Given the description of an element on the screen output the (x, y) to click on. 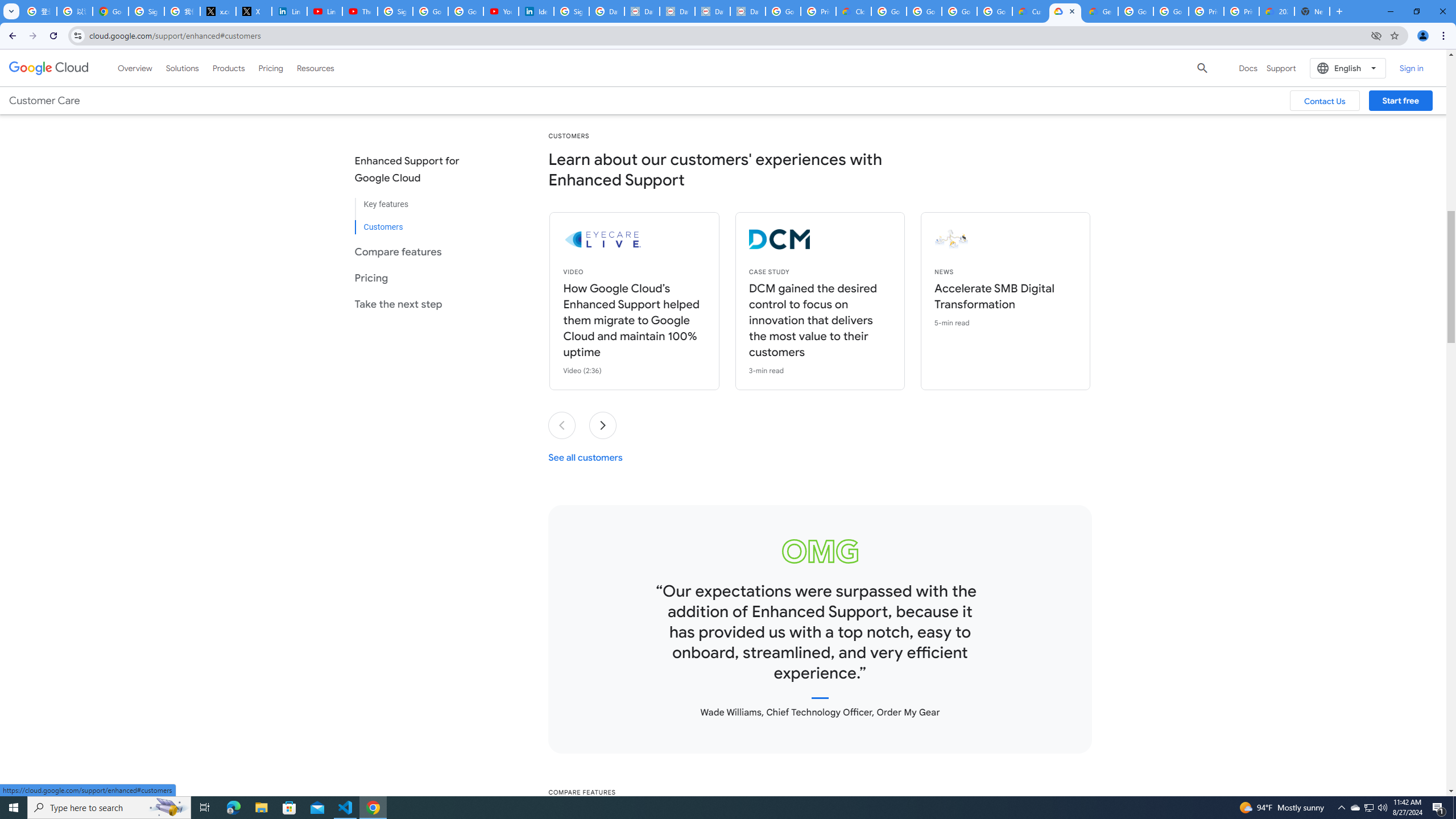
Previous slide (562, 424)
Next slide (603, 424)
LinkedIn Privacy Policy (288, 11)
Google Cloud Platform (1135, 11)
Sign in - Google Accounts (145, 11)
Support (1280, 67)
Products (228, 67)
